Given the description of an element on the screen output the (x, y) to click on. 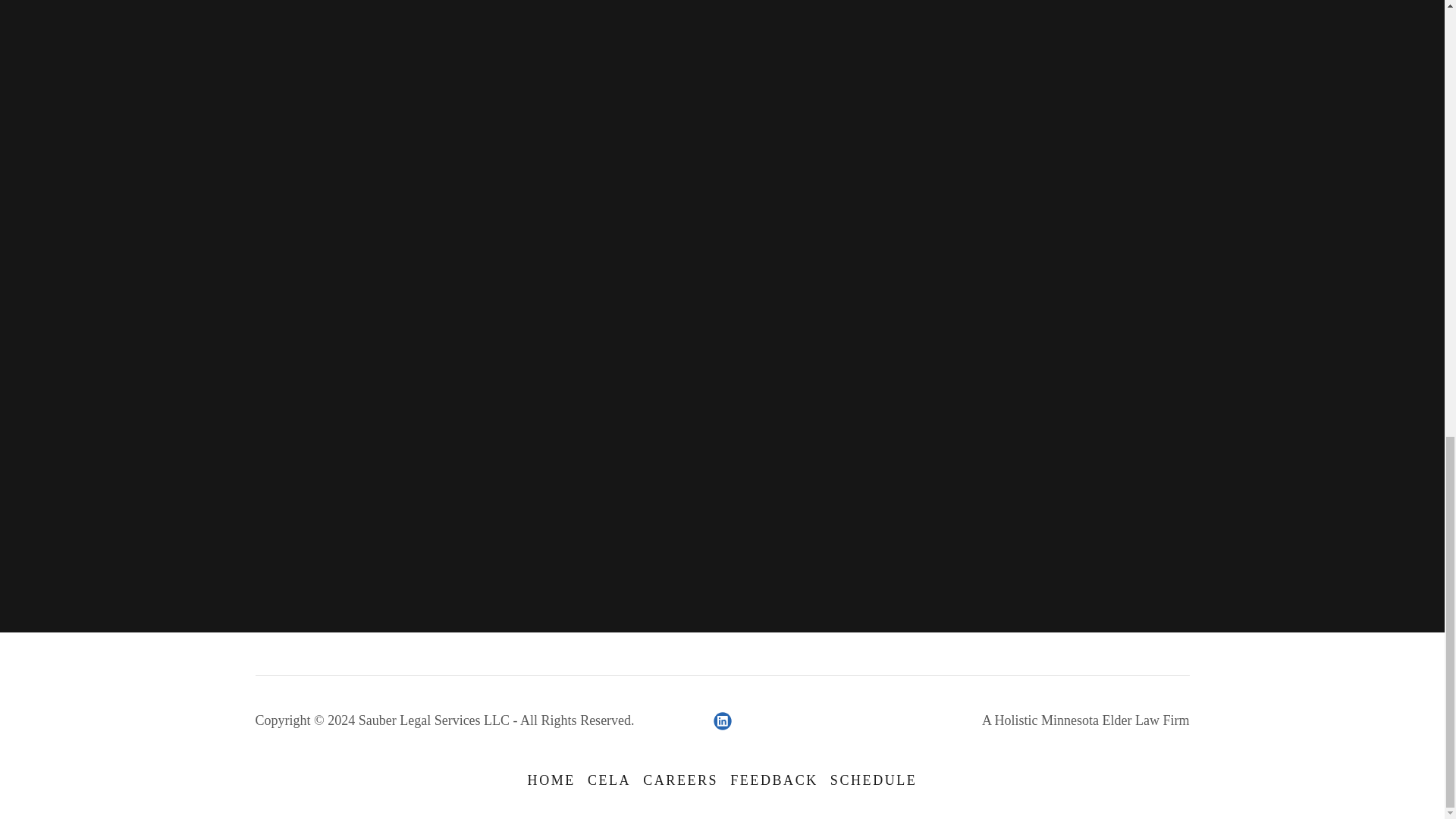
CAREERS (680, 780)
HOME (550, 780)
CELA (608, 780)
SCHEDULE (873, 780)
FEEDBACK (773, 780)
